Given the description of an element on the screen output the (x, y) to click on. 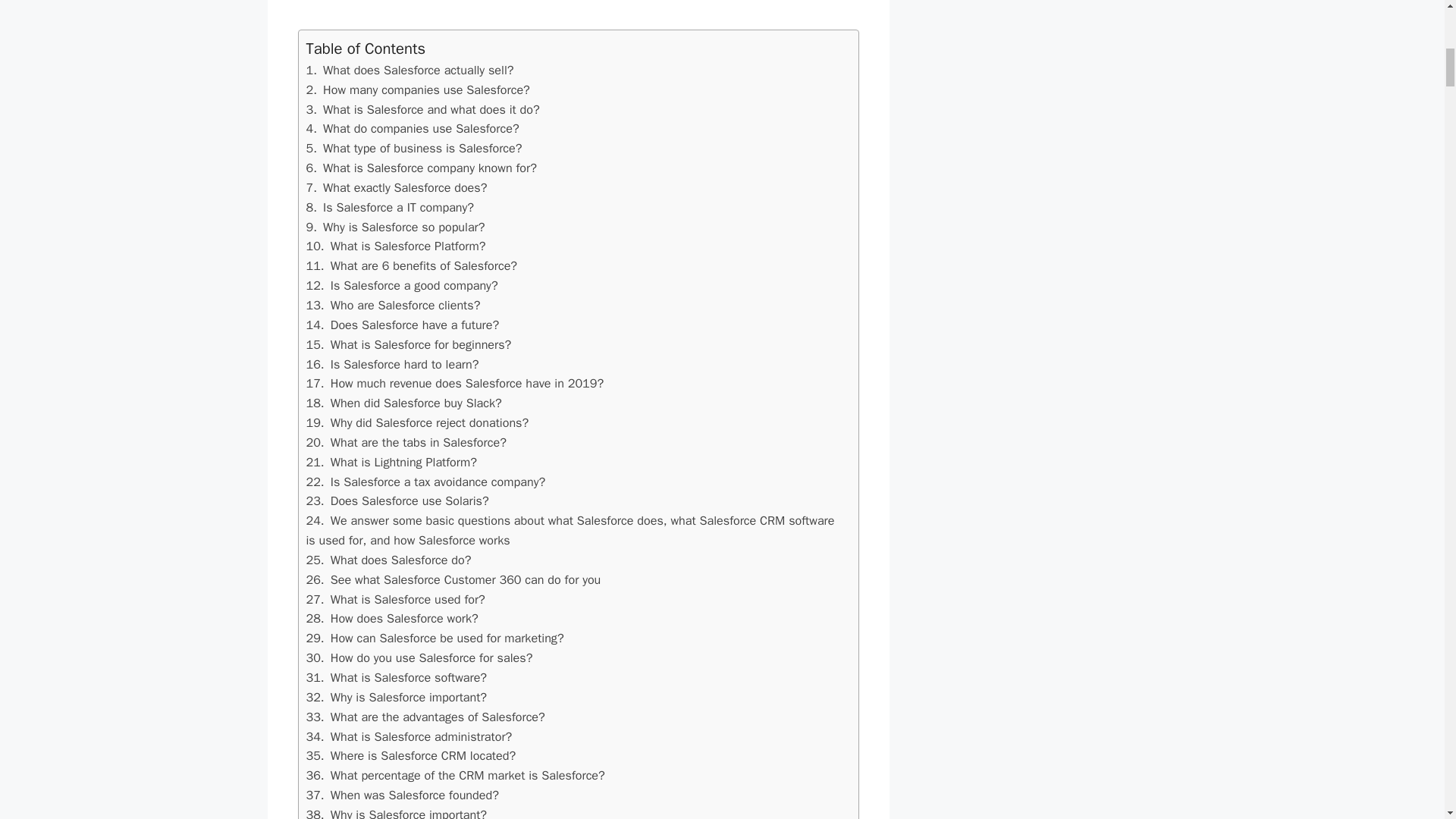
Who are Salesforce clients? (392, 304)
What is Salesforce Platform? (395, 245)
What type of business is Salesforce? (422, 109)
What exactly Salesforce does? (413, 148)
What is Salesforce software? (396, 187)
How do you use Salesforce for sales? (396, 677)
Does Salesforce have a future? (418, 657)
What is Lightning Platform? (402, 324)
Why is Salesforce important? (391, 462)
What are 6 benefits of Salesforce? (396, 697)
What is Salesforce and what does it do? (411, 265)
What is Salesforce for beginners? (409, 69)
